Given the description of an element on the screen output the (x, y) to click on. 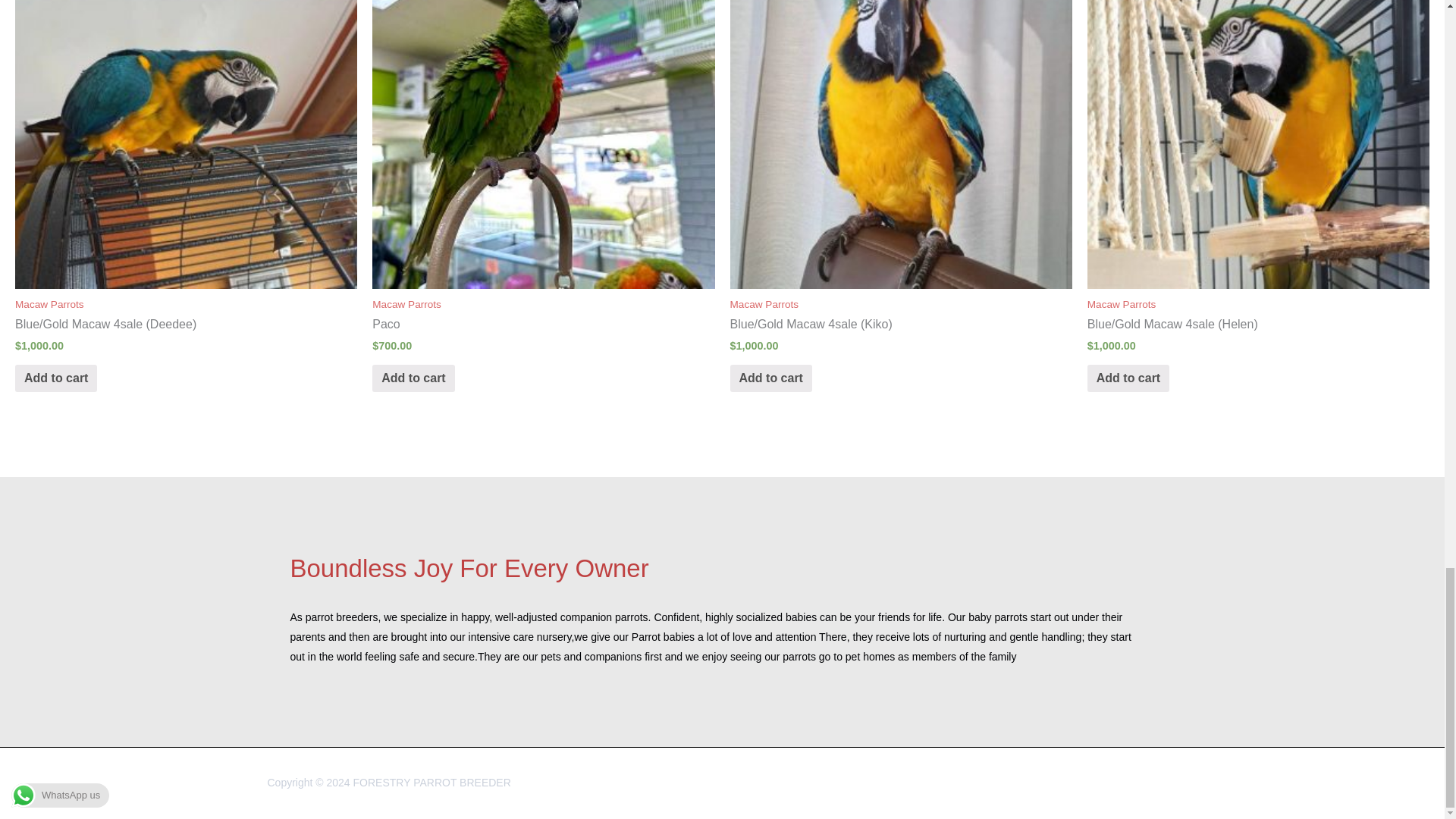
Add to cart (55, 378)
Paco (543, 324)
Add to cart (769, 378)
Add to cart (1128, 378)
Add to cart (413, 378)
